Given the description of an element on the screen output the (x, y) to click on. 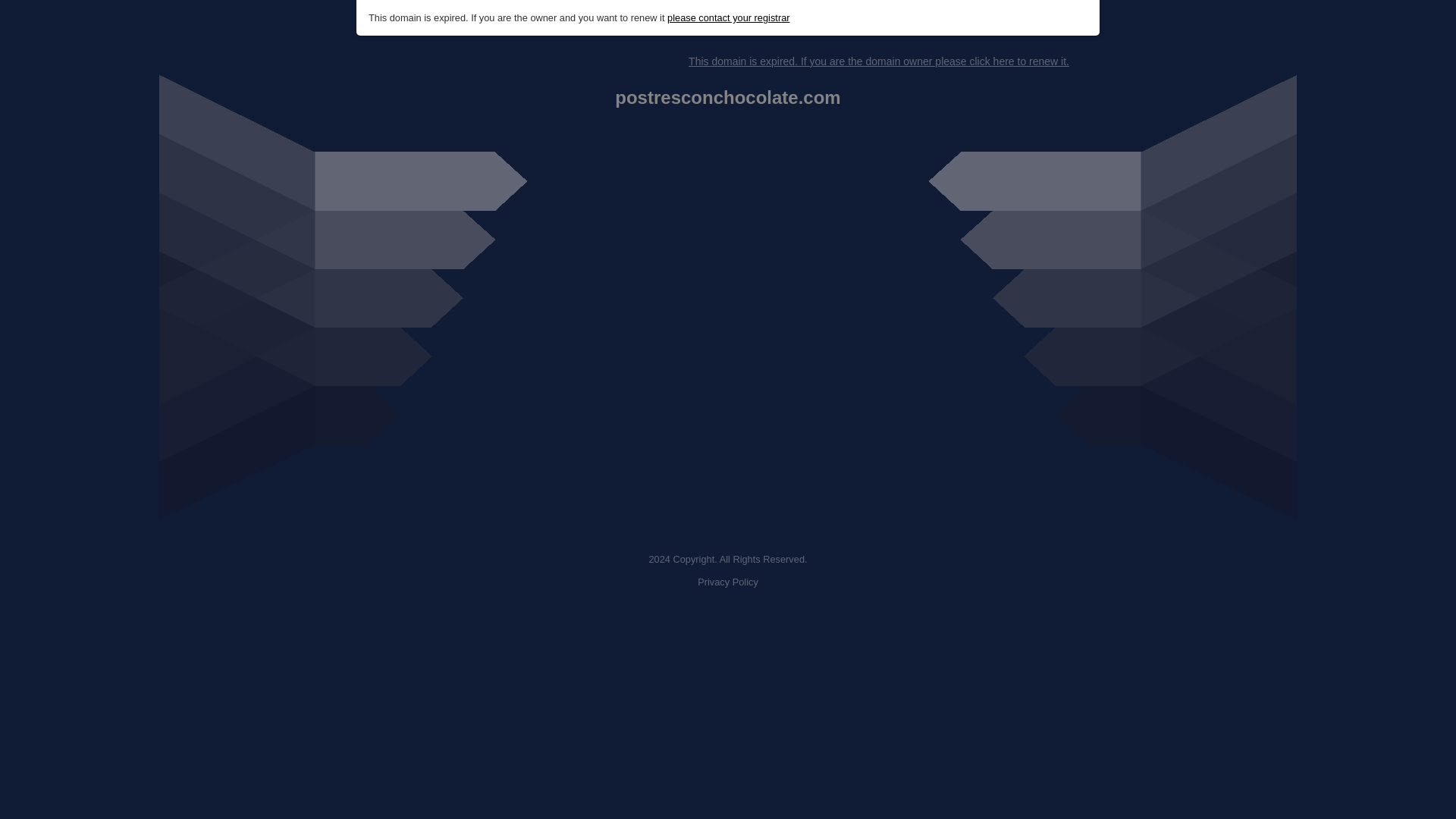
Privacy Policy (727, 582)
please contact your registrar (727, 17)
